Given the description of an element on the screen output the (x, y) to click on. 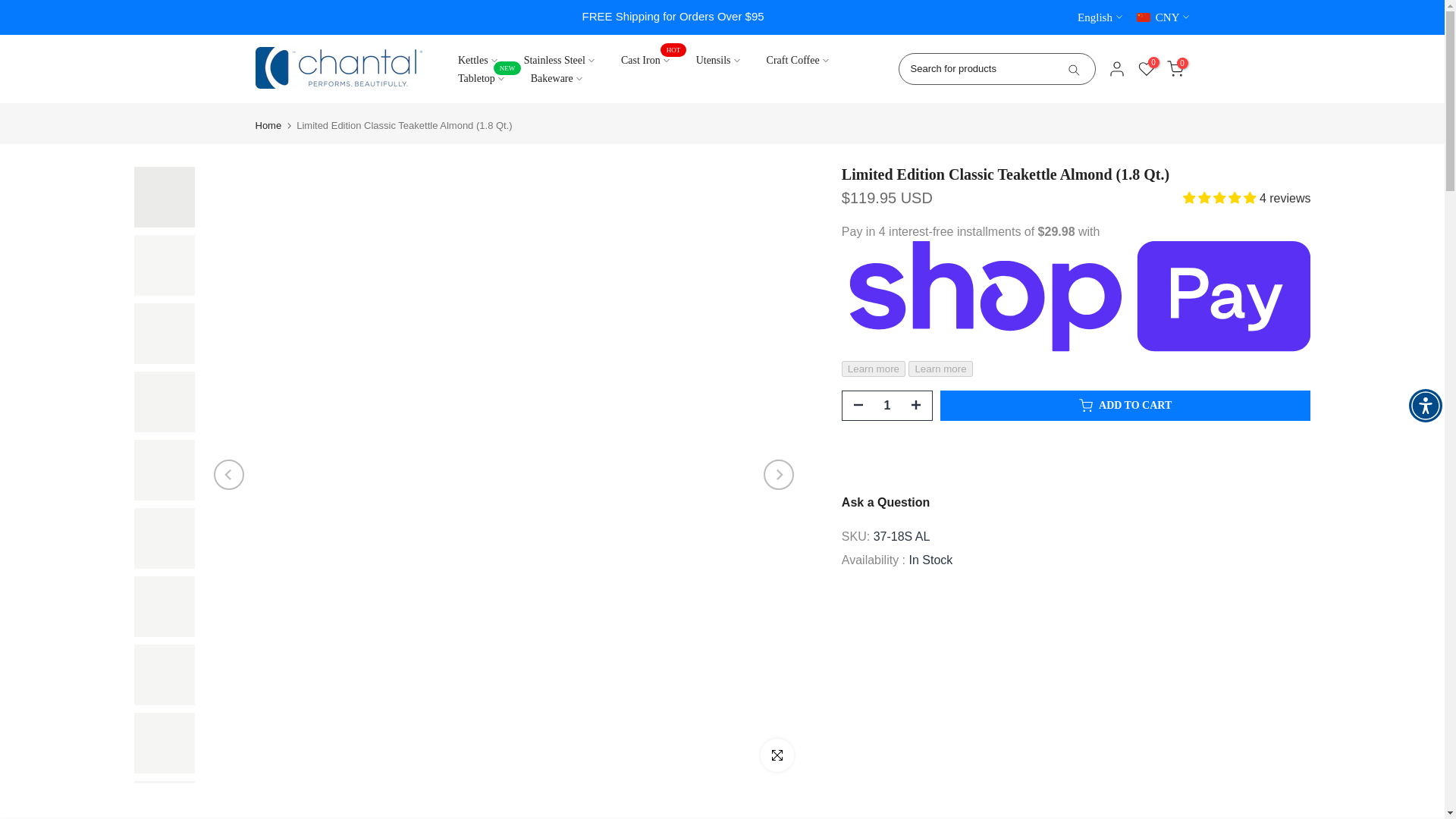
1 (886, 405)
English (1099, 17)
Accessibility Menu (1425, 405)
Stainless Steel (559, 60)
Skip to content (10, 7)
Kettles (477, 60)
CNY (1163, 17)
